Given the description of an element on the screen output the (x, y) to click on. 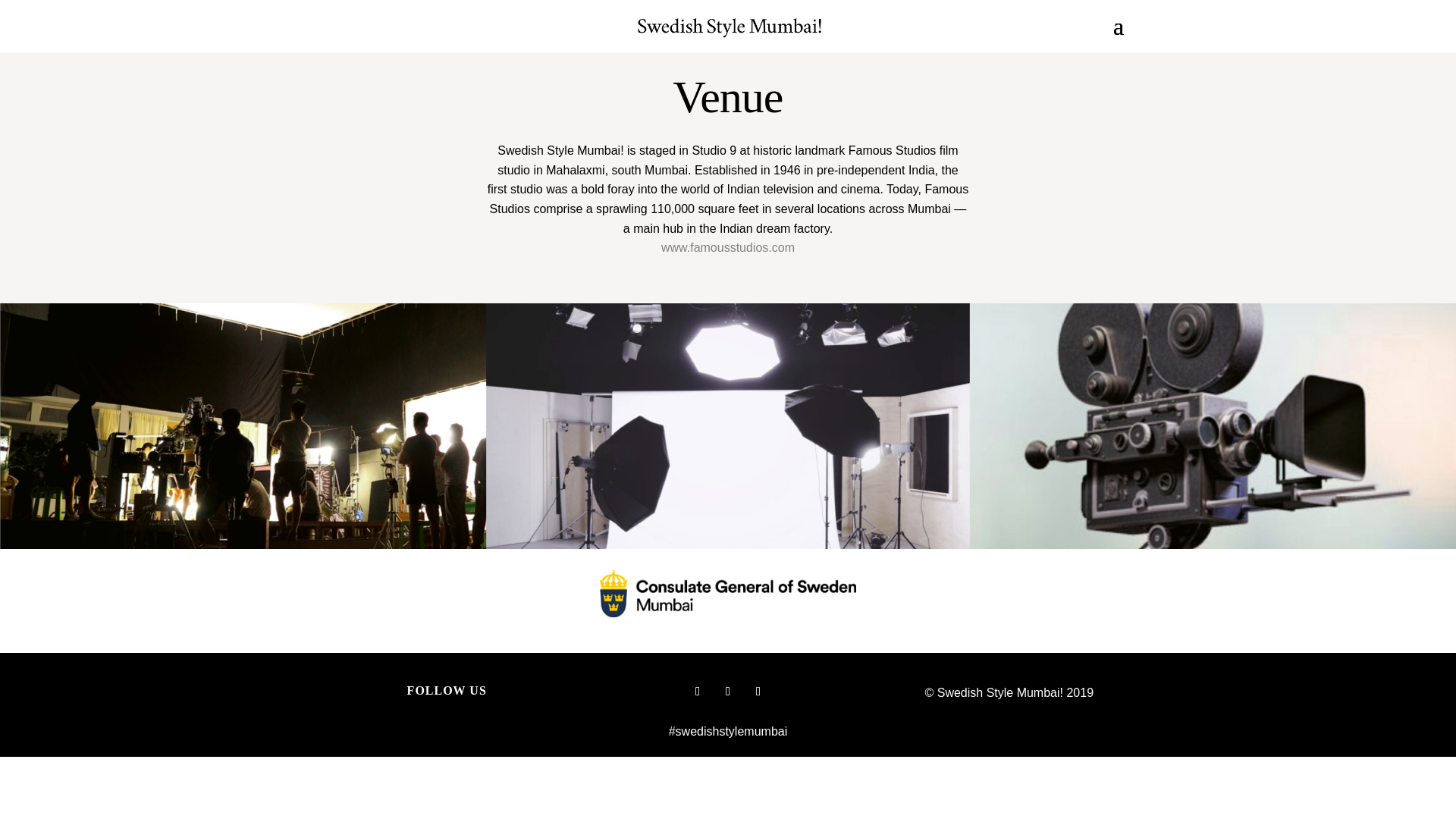
Follow on Instagram (697, 691)
Follow on Twitter (757, 691)
www.famousstudios.com (727, 246)
Follow on Youtube (727, 691)
